Given the description of an element on the screen output the (x, y) to click on. 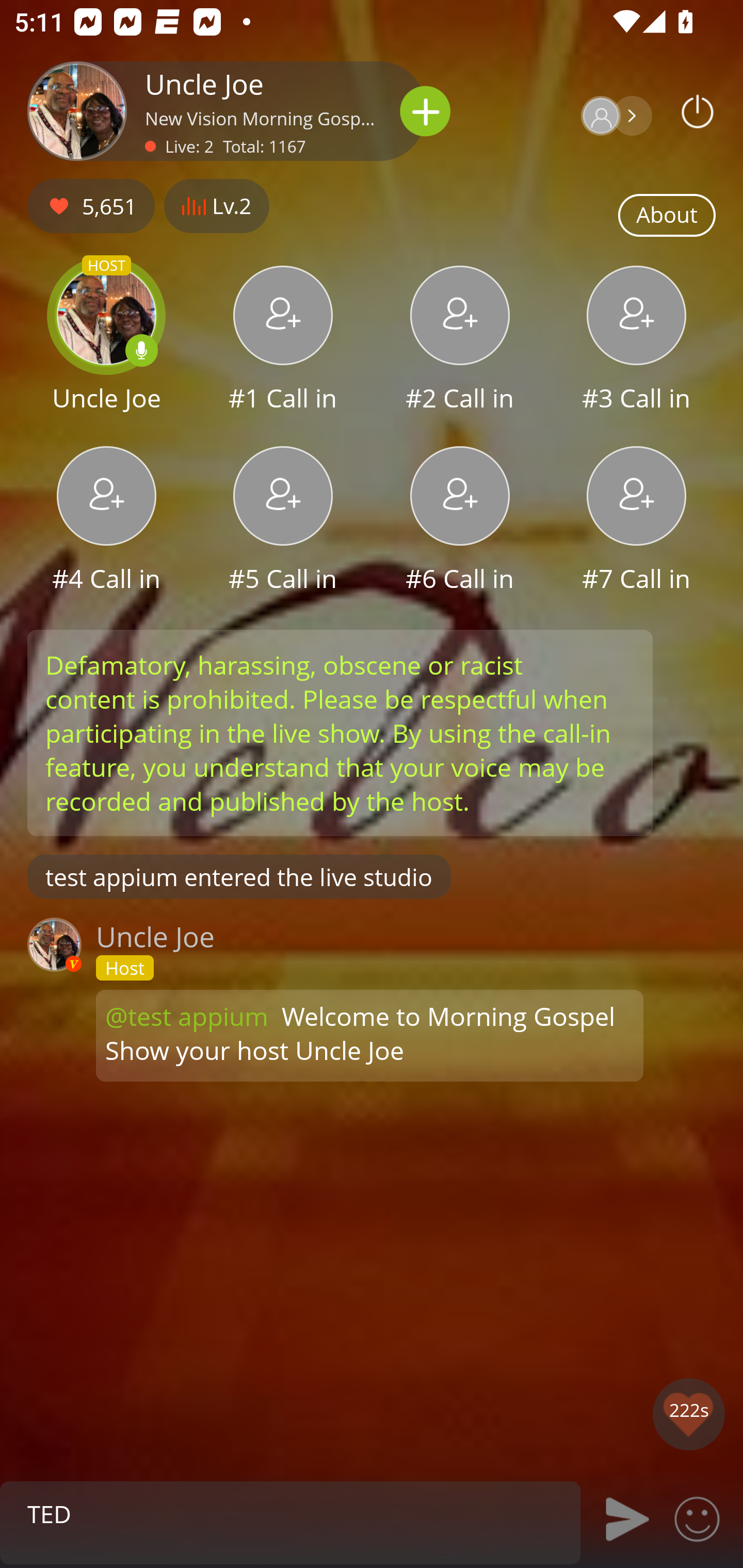
Podbean (697, 111)
About (666, 215)
HOST Uncle Joe (105, 340)
#1 Call in (282, 340)
#2 Call in (459, 340)
#3 Call in (636, 340)
#4 Call in (105, 521)
#5 Call in (282, 521)
#6 Call in (459, 521)
#7 Call in (636, 521)
TED (289, 1513)
